Given the description of an element on the screen output the (x, y) to click on. 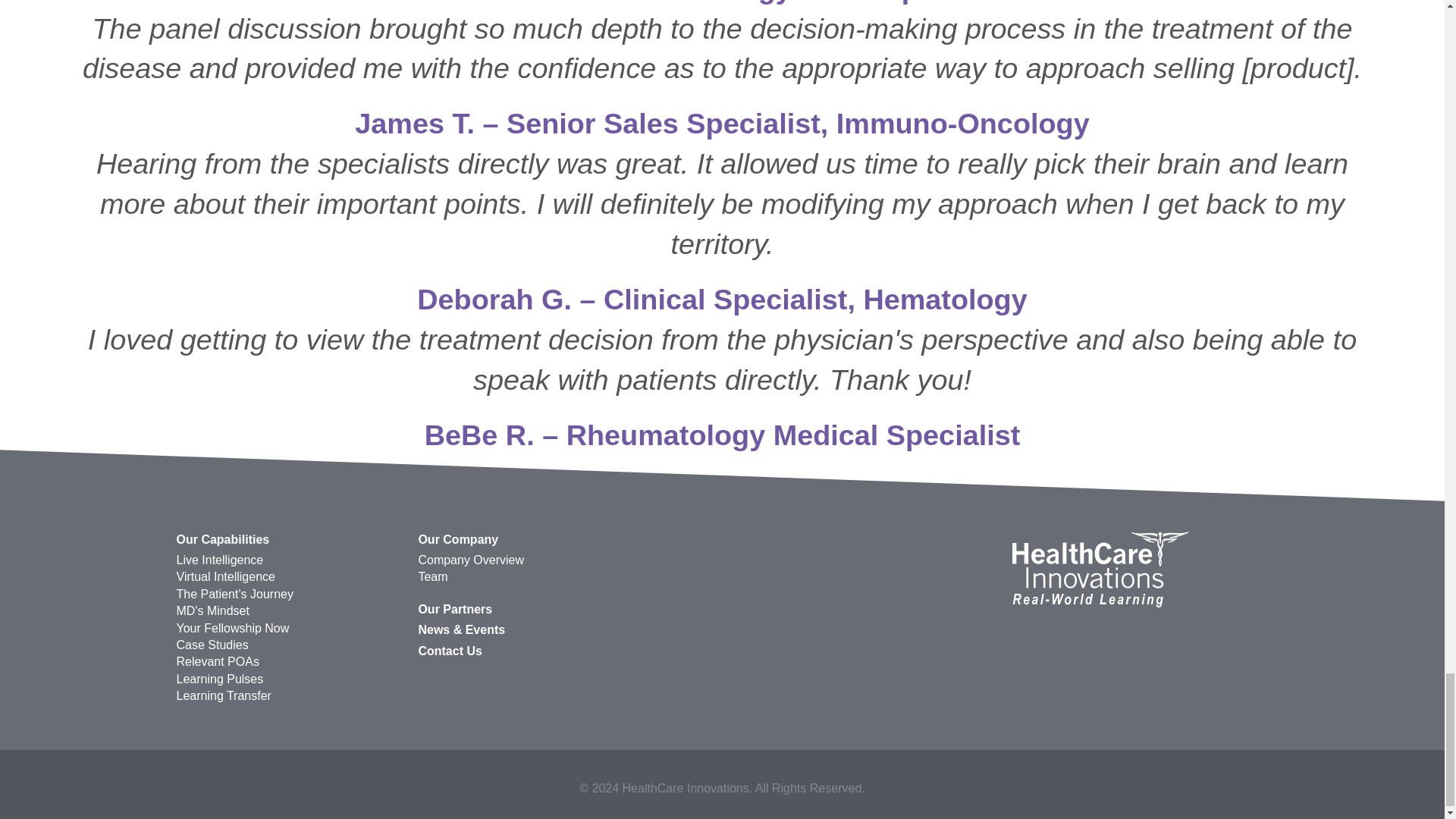
Live Intelligence (291, 560)
Learning Transfer (291, 695)
Your Fellowship Now (291, 628)
Virtual Intelligence (291, 576)
MD's Mindset (291, 610)
Our Capabilities (291, 539)
Relevant POAs (291, 661)
Case Studies (291, 645)
Learning Pulses (291, 678)
Our Company (532, 539)
